Given the description of an element on the screen output the (x, y) to click on. 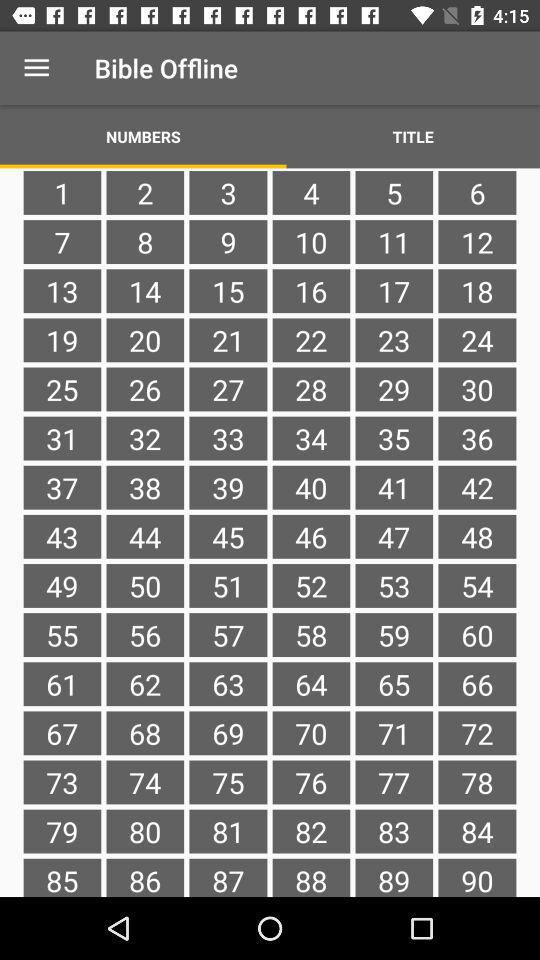
open the 30 item (477, 389)
